Given the description of an element on the screen output the (x, y) to click on. 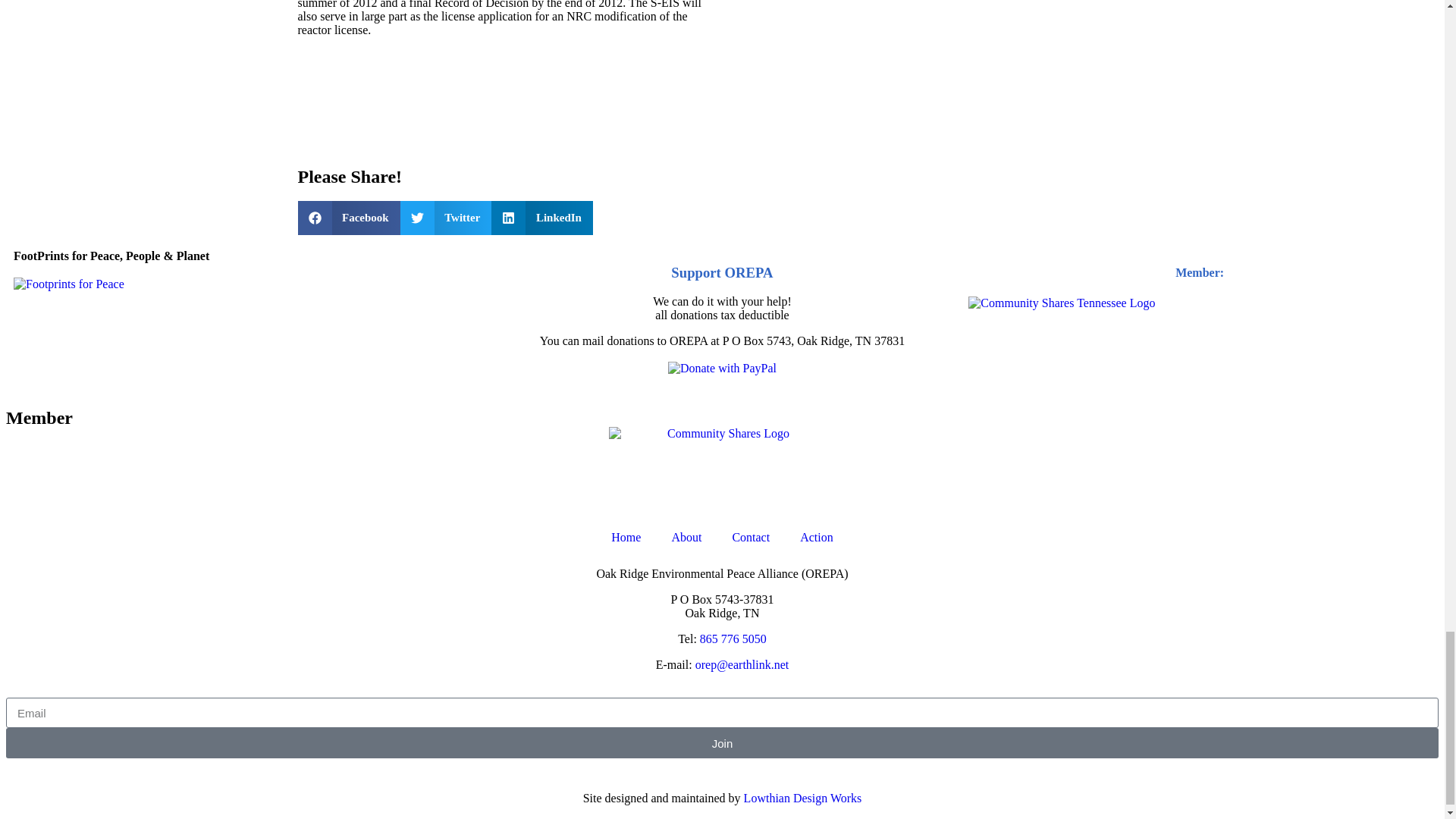
Home (625, 537)
